Given the description of an element on the screen output the (x, y) to click on. 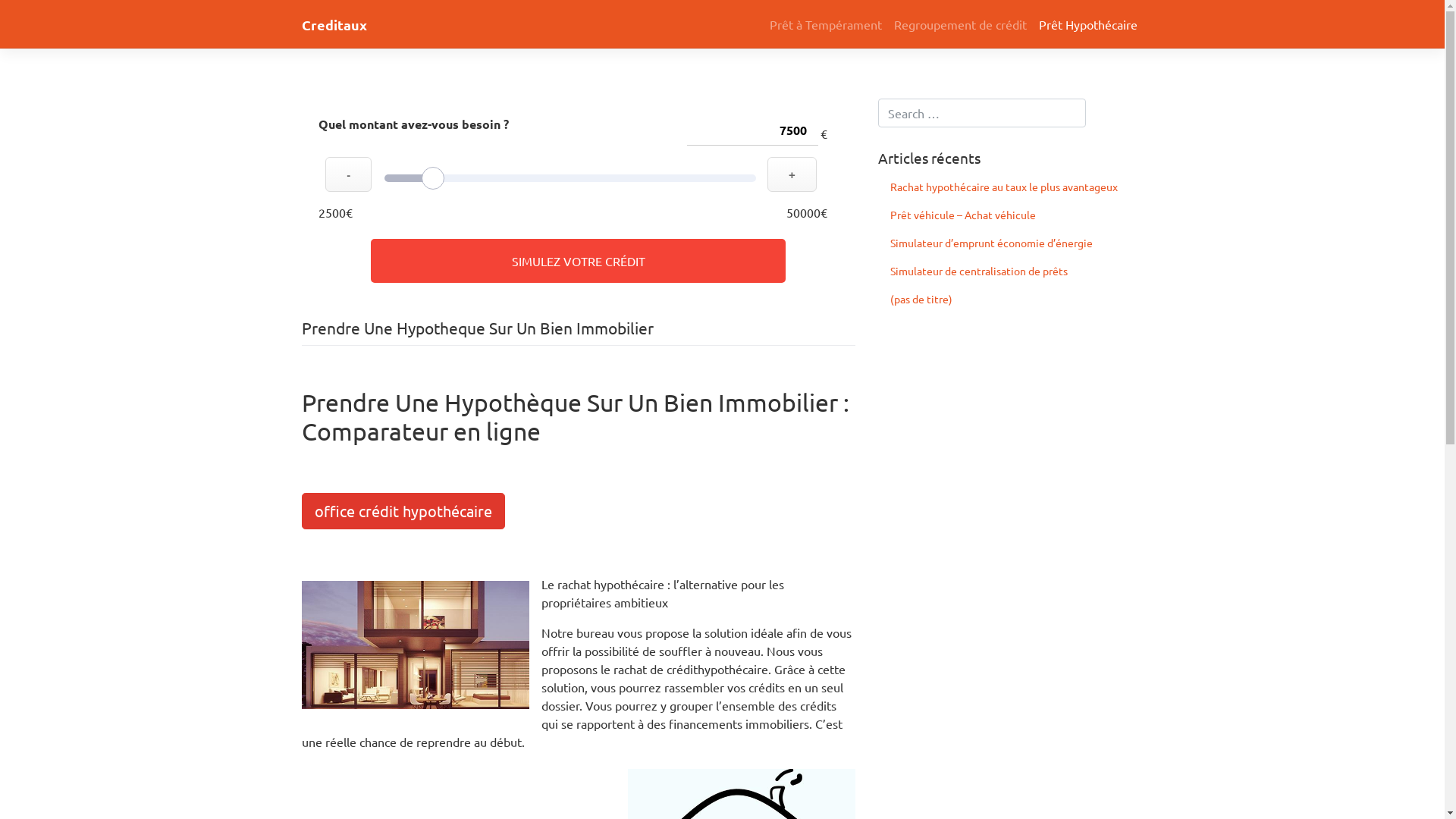
Creditaux Element type: text (334, 24)
Search Element type: text (28, 14)
(pas de titre) Element type: text (1010, 299)
- Element type: text (348, 173)
Search for: Element type: hover (981, 112)
+ Element type: text (791, 173)
